Given the description of an element on the screen output the (x, y) to click on. 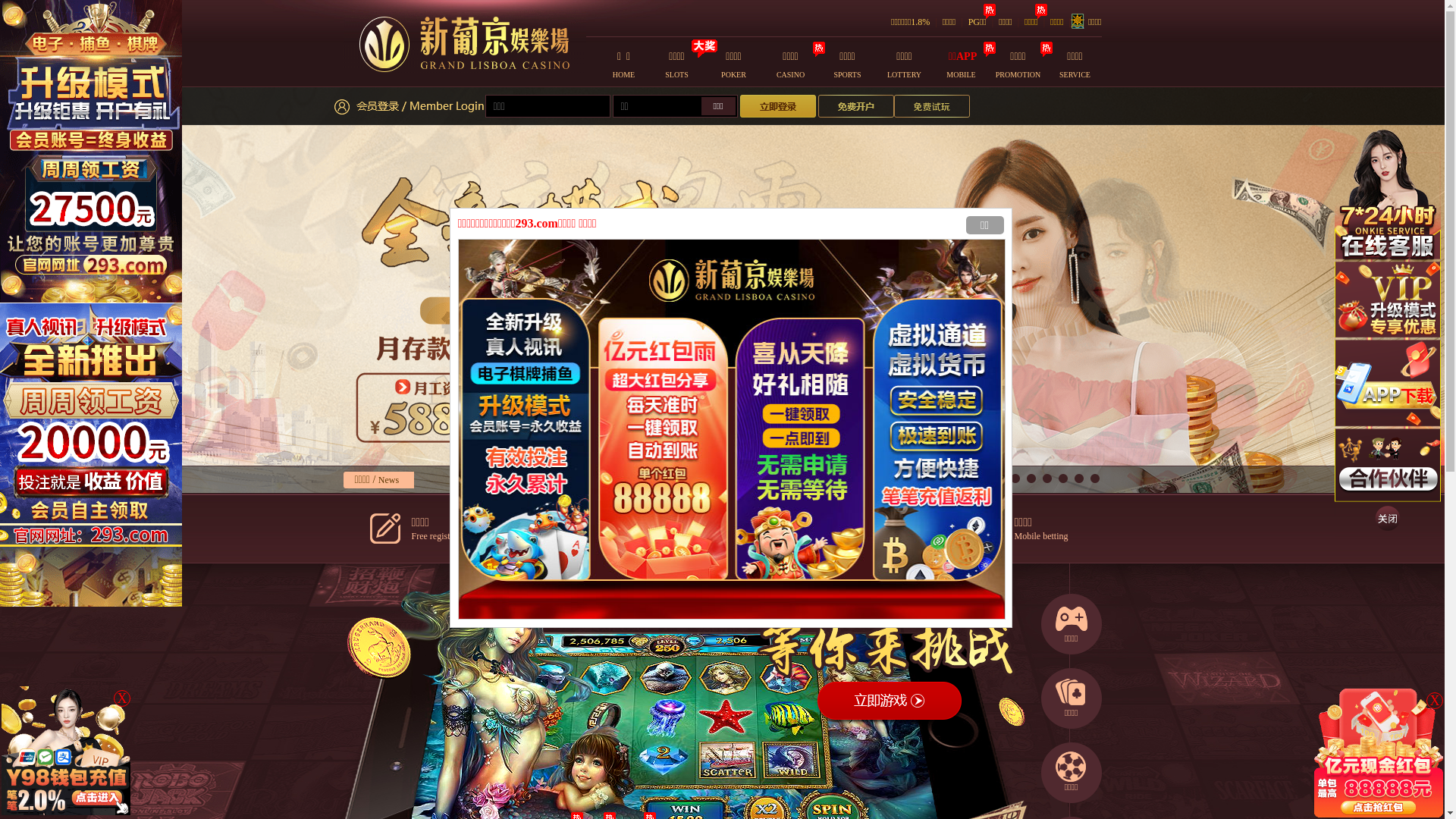
X Element type: text (1434, 700)
X Element type: text (121, 698)
